Given the description of an element on the screen output the (x, y) to click on. 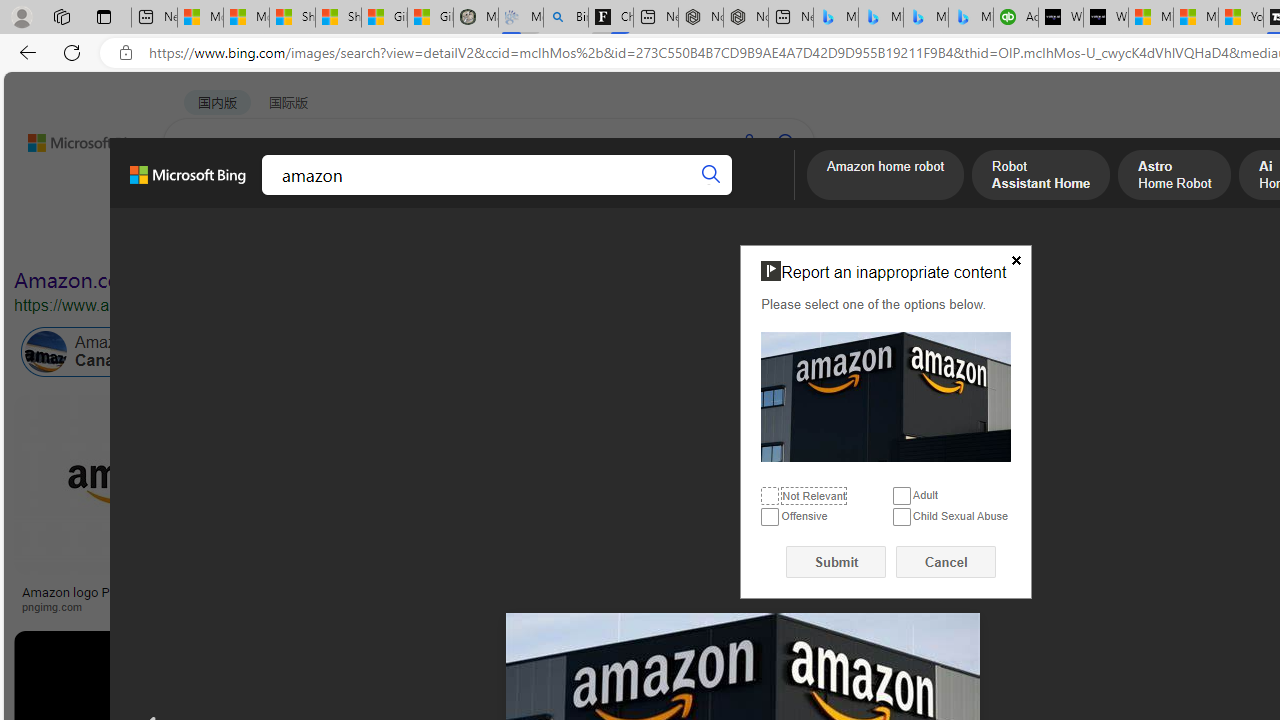
IMAGES (274, 195)
Amazon Animals (749, 351)
Type (373, 237)
Listen: What's next for Amazon? (710, 592)
Amazon home robot (885, 177)
